Given the description of an element on the screen output the (x, y) to click on. 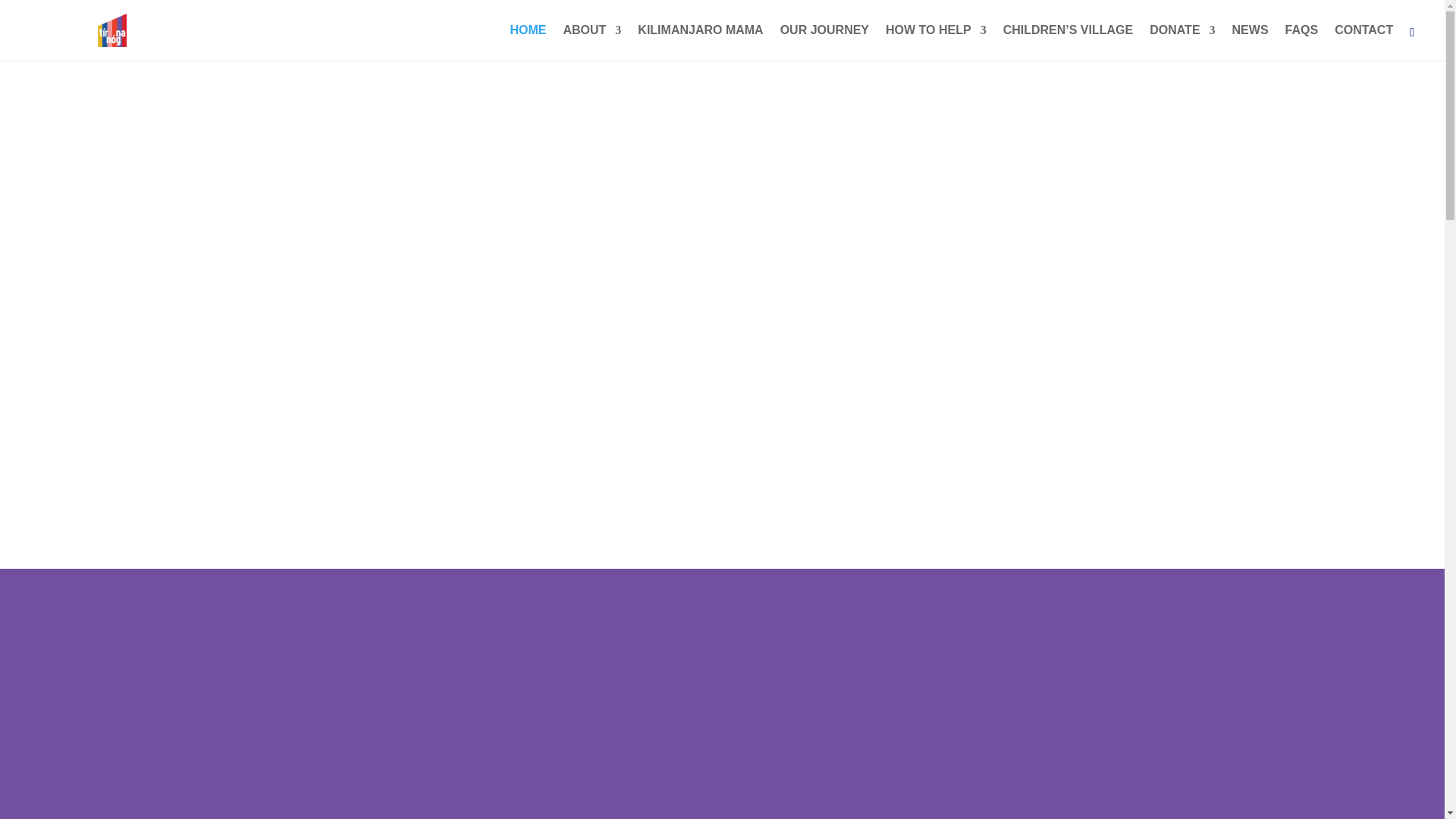
FAQS (1302, 42)
ABOUT (591, 42)
NEWS (1249, 42)
HOW TO HELP (936, 42)
KILIMANJARO MAMA (699, 42)
OUR JOURNEY (824, 42)
HOME (527, 42)
CONTACT (1364, 42)
DONATE (1182, 42)
